Given the description of an element on the screen output the (x, y) to click on. 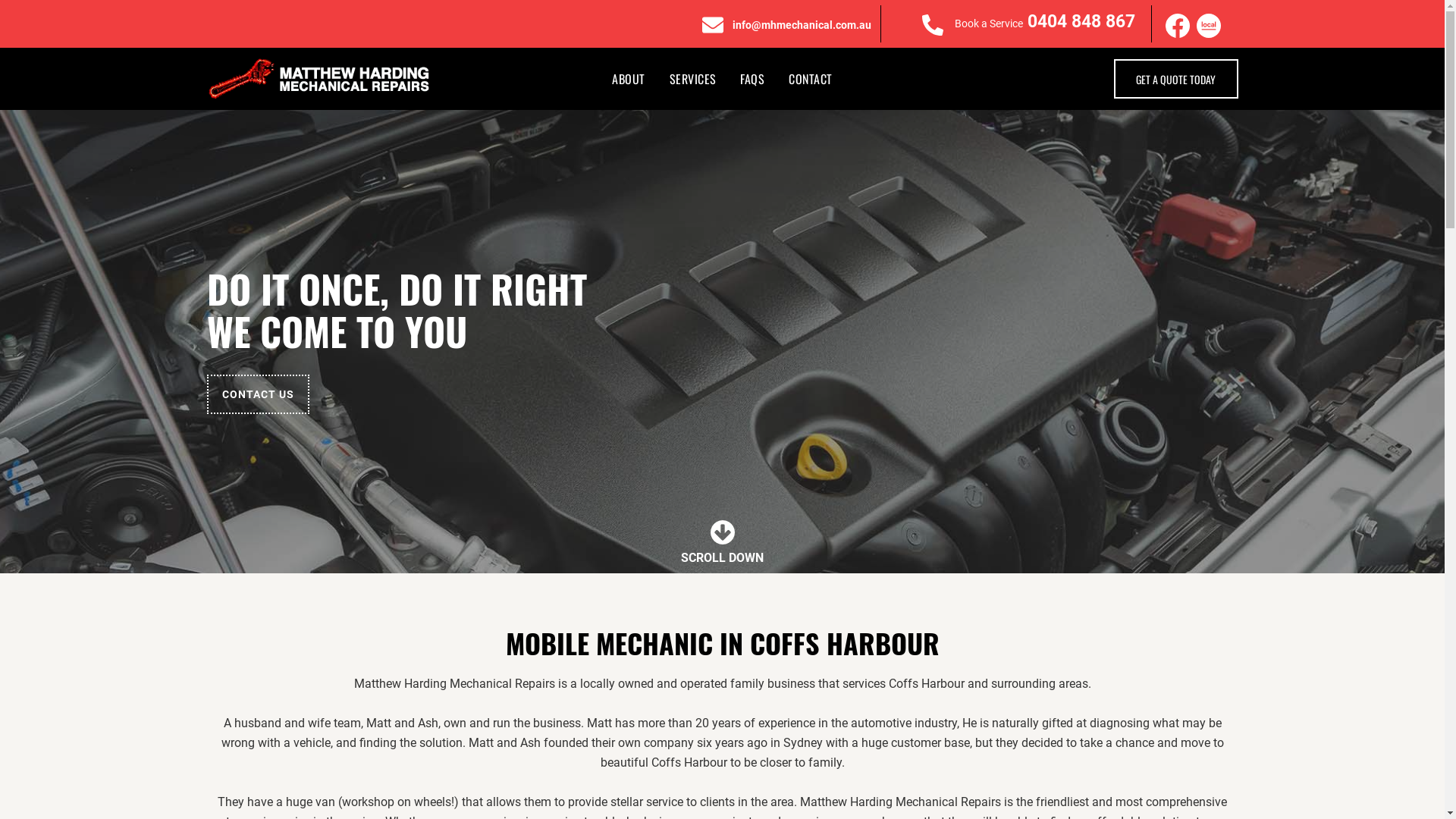
SERVICES Element type: text (692, 78)
Mobile mechanic in Coffs Harbour Element type: hover (319, 78)
CONTACT Element type: text (810, 78)
CONTACT US Element type: text (257, 394)
info@mhmechanical.com.au Element type: text (801, 24)
Find Us On Facebook Element type: hover (1177, 25)
0404 848 867 Element type: text (1081, 21)
GET A QUOTE TODAY Element type: text (1175, 78)
www.localsearch.com.au Element type: hover (1208, 25)
ABOUT Element type: text (627, 78)
FAQS Element type: text (752, 78)
